Given the description of an element on the screen output the (x, y) to click on. 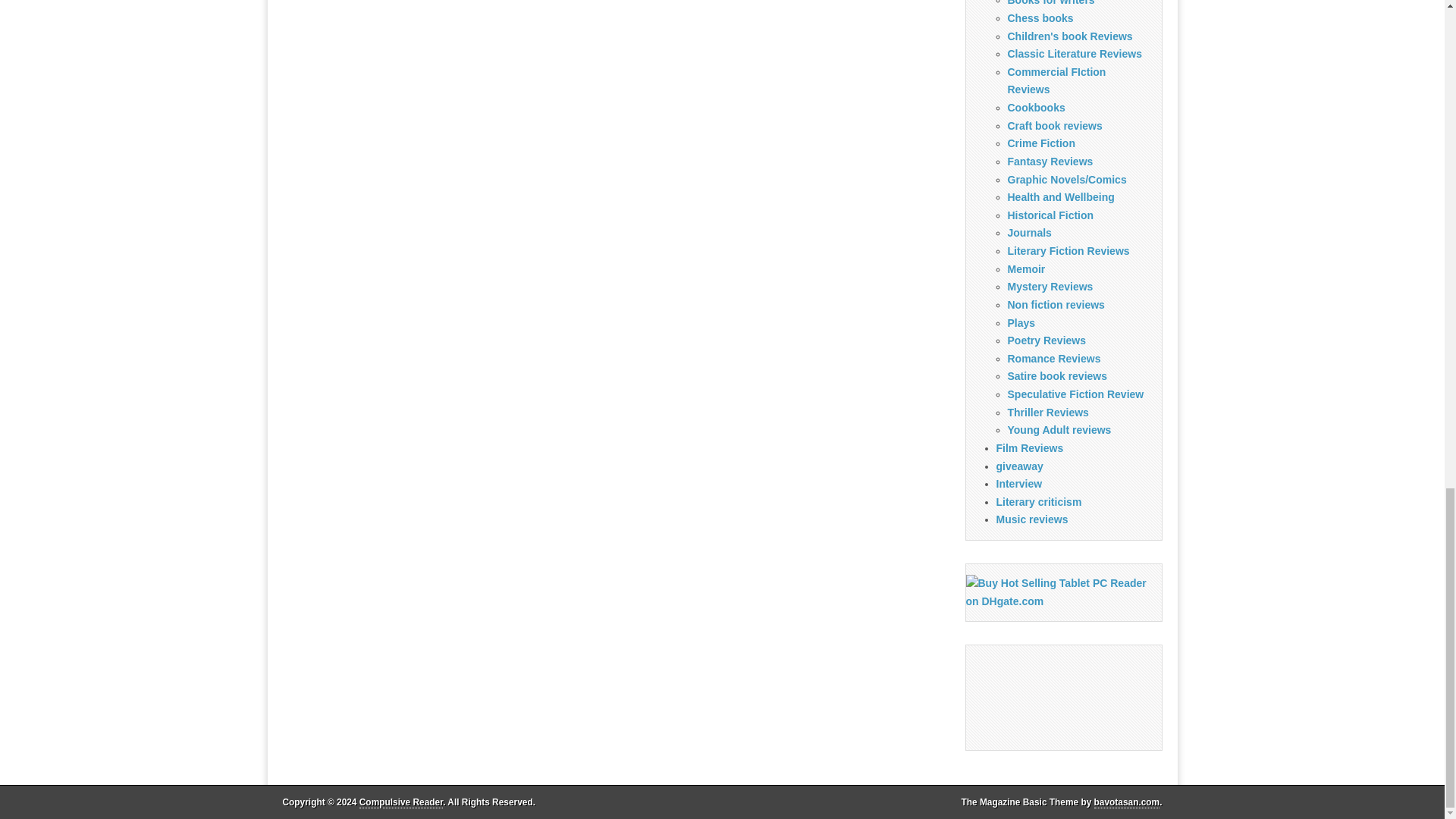
Health and Wellbeing (1060, 196)
Chess books (1040, 18)
Fantasy Reviews (1050, 161)
Books for writers (1050, 2)
Cookbooks (1035, 107)
Crime Fiction (1040, 143)
Commercial FIction Reviews (1056, 81)
Craft book reviews (1054, 125)
Classic Literature Reviews (1074, 53)
Historical Fiction (1050, 215)
Children's book Reviews (1069, 36)
